Given the description of an element on the screen output the (x, y) to click on. 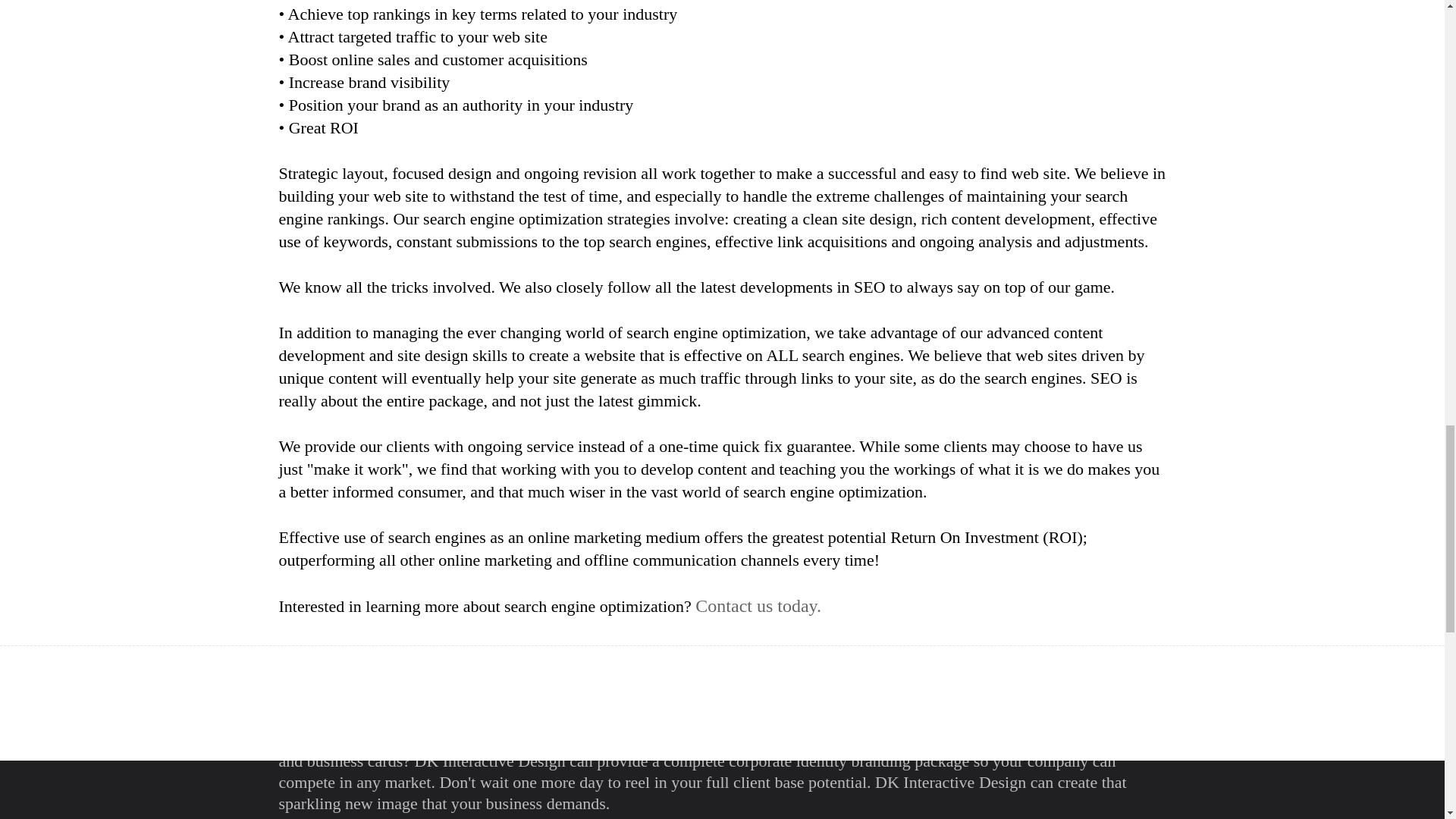
Contact us today. (758, 605)
